Given the description of an element on the screen output the (x, y) to click on. 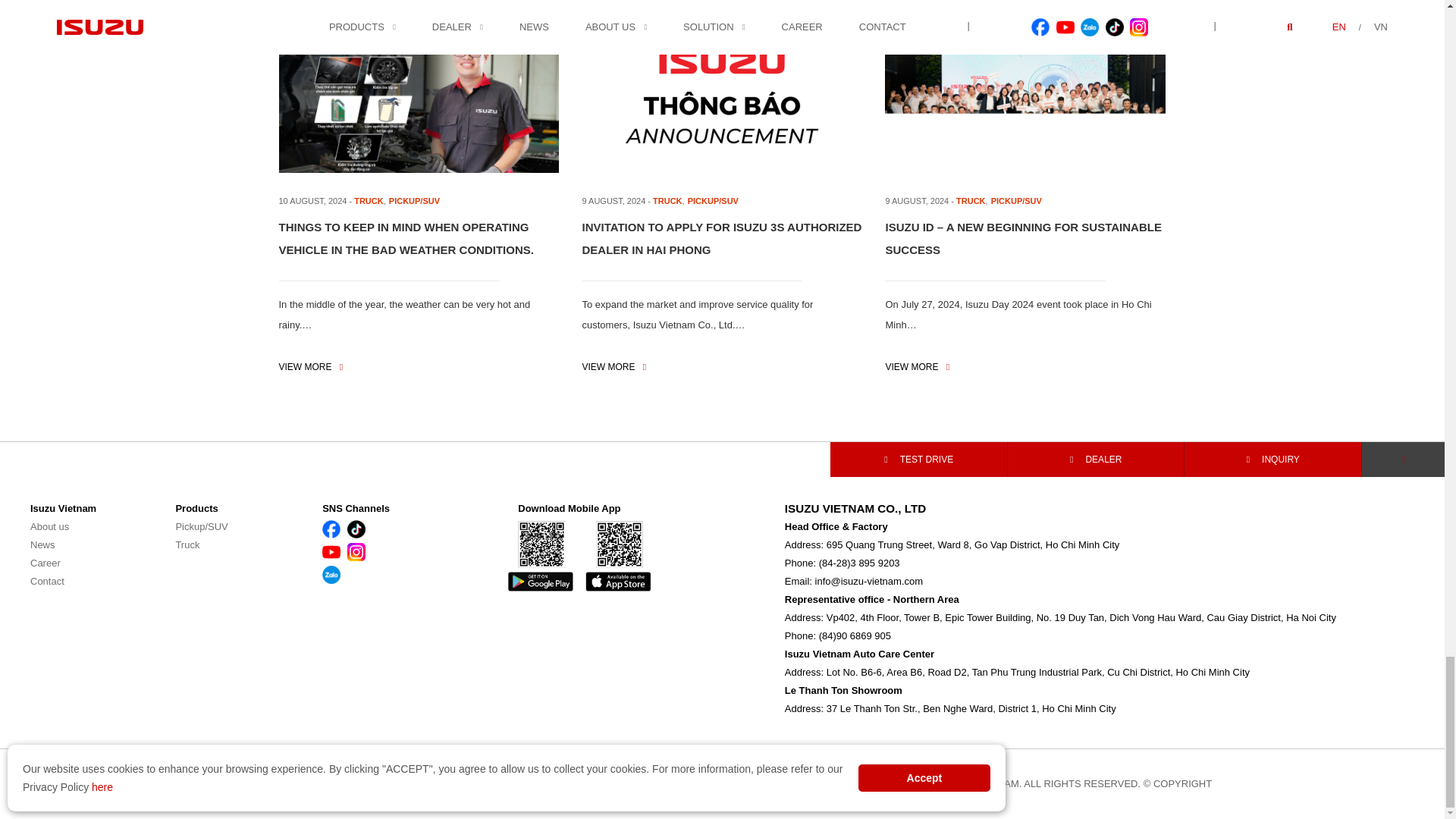
TRUCK (368, 200)
